Given the description of an element on the screen output the (x, y) to click on. 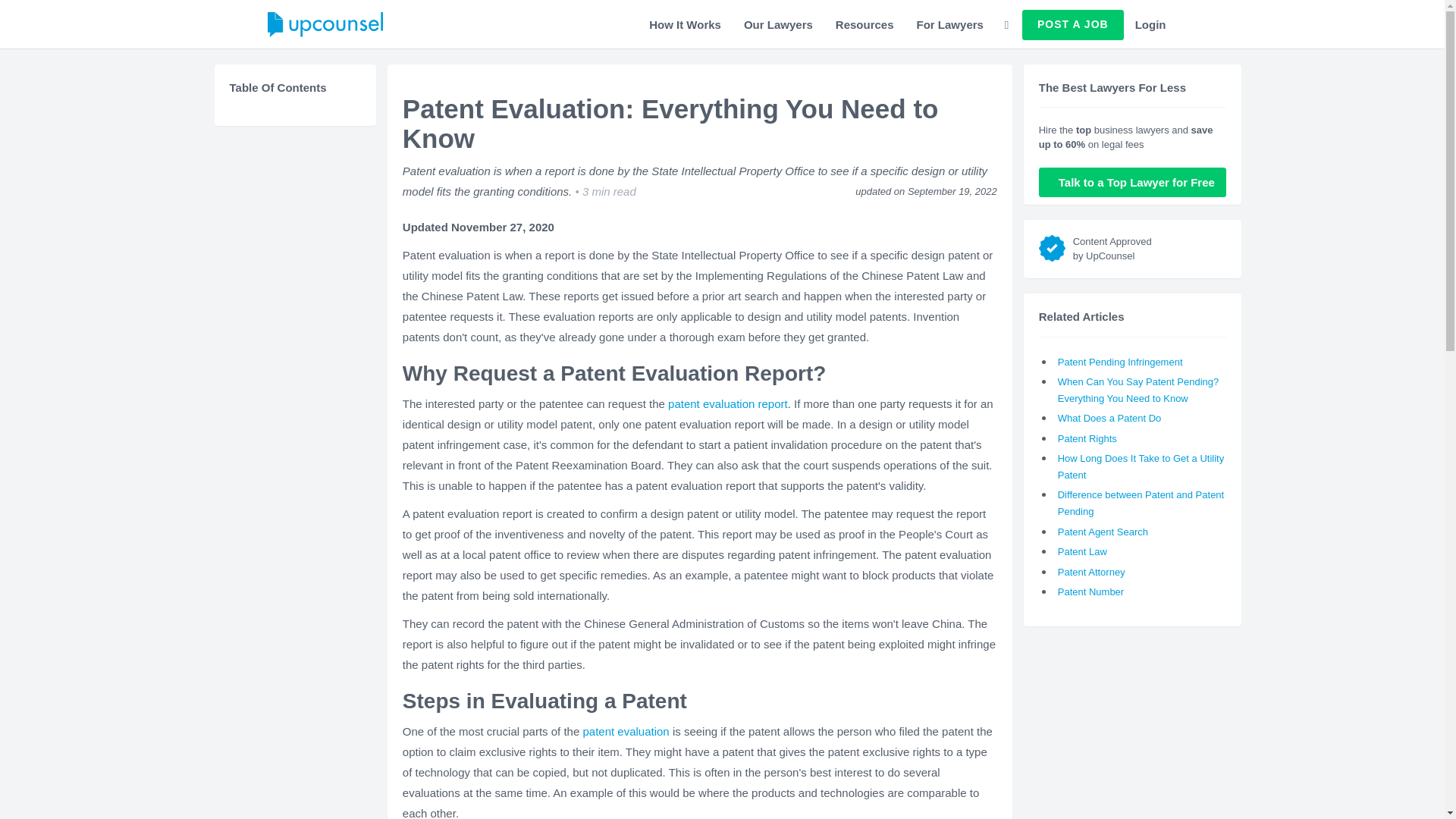
Patent Rights (1087, 438)
patent evaluation report (727, 403)
Patent Pending Infringement (1120, 361)
Login (1150, 24)
Resources (864, 24)
When Can You Say Patent Pending? Everything You Need to Know (1139, 389)
What Does a Patent Do (1109, 418)
For Lawyers (949, 24)
Our Lawyers (778, 24)
How It Works (684, 24)
